Given the description of an element on the screen output the (x, y) to click on. 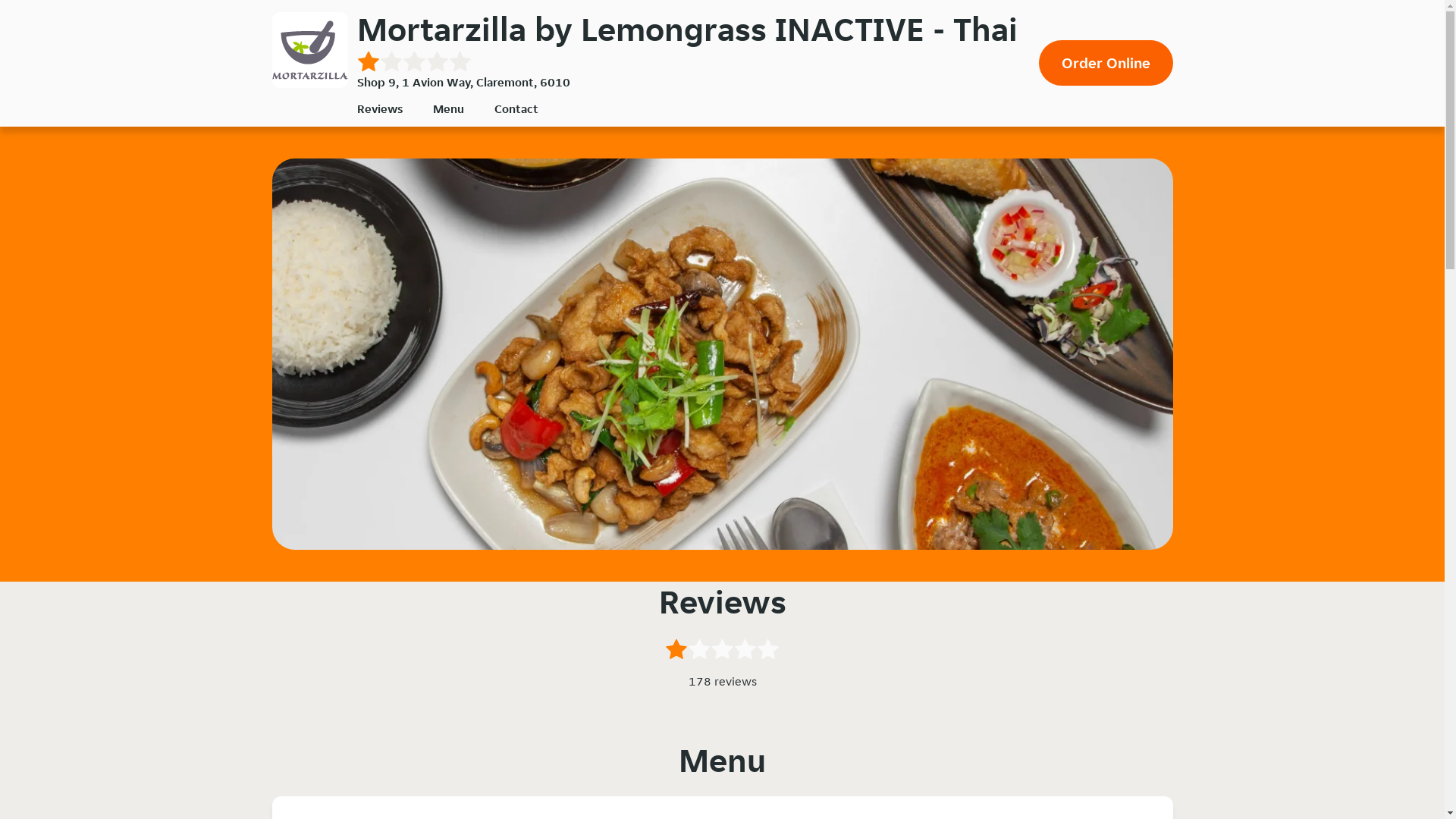
Contact Element type: text (516, 108)
Menu Element type: text (447, 108)
Order Online Element type: text (1105, 62)
Mortarzilla by Lemongrass INACTIVE Element type: hover (309, 49)
Reviews Element type: text (378, 108)
